Given the description of an element on the screen output the (x, y) to click on. 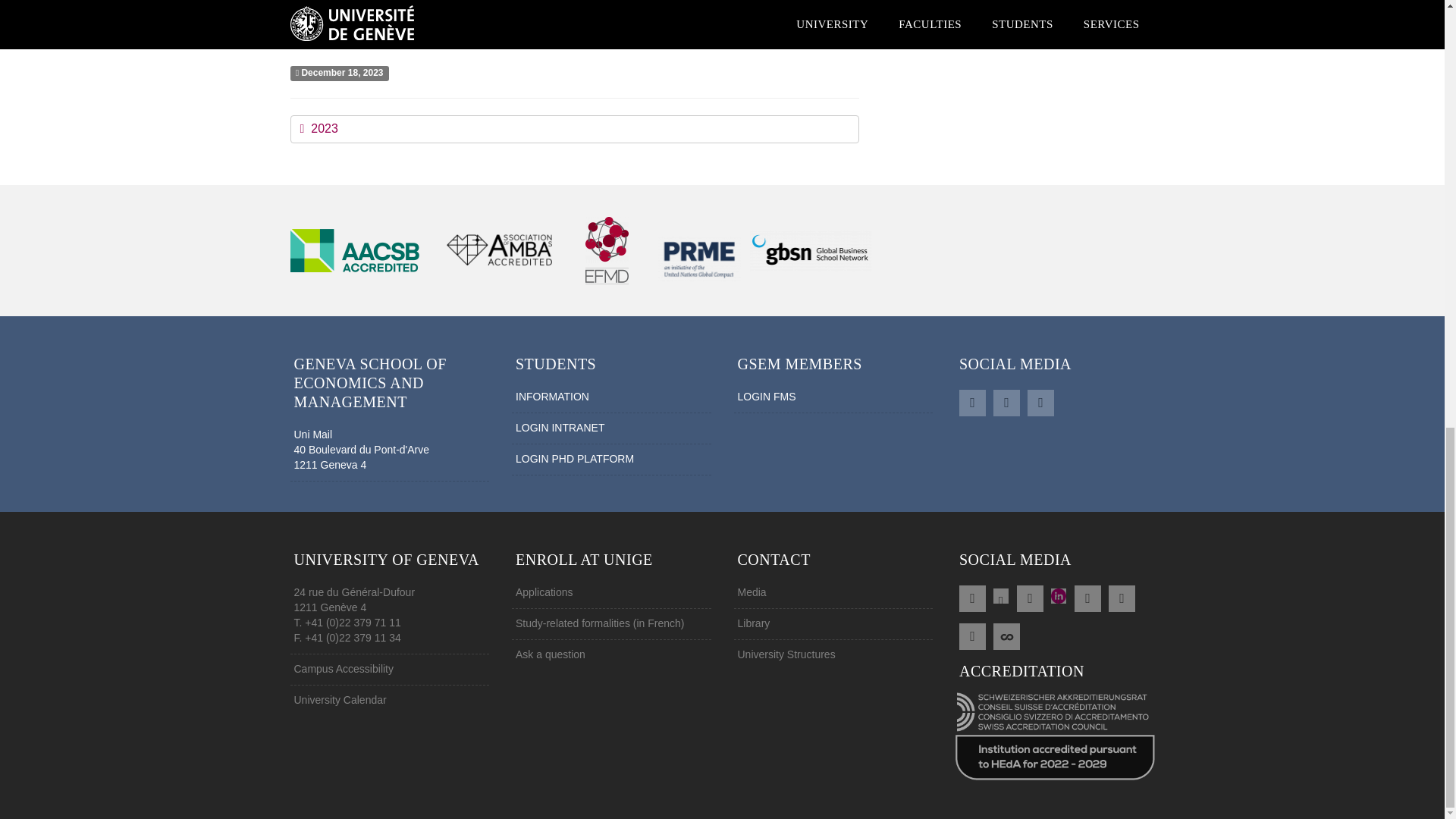
Coursera (1006, 634)
Facebook (972, 401)
LinkedIn (1006, 401)
Instagram (1121, 596)
RSS (972, 596)
iTunesU (972, 634)
YouTube (1087, 596)
YouTube (1040, 401)
